Given the description of an element on the screen output the (x, y) to click on. 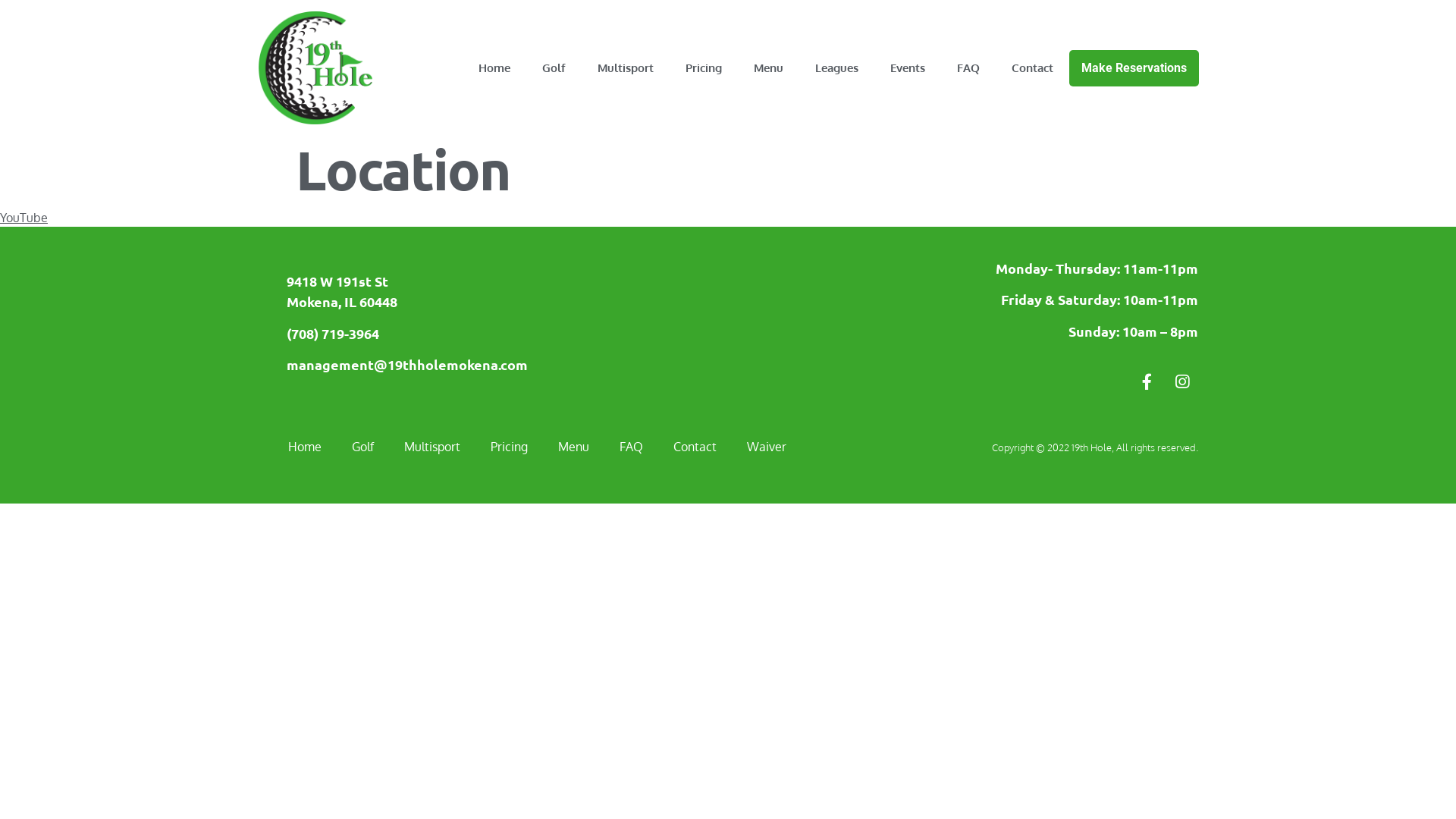
Contact Element type: text (694, 446)
Pricing Element type: text (508, 446)
Golf Element type: text (553, 67)
Menu Element type: text (768, 67)
Home Element type: text (304, 446)
Make Reservations Element type: text (1133, 68)
Multisport Element type: text (432, 446)
Contact Element type: text (1032, 67)
FAQ Element type: text (968, 67)
FAQ Element type: text (631, 446)
Menu Element type: text (573, 446)
YouTube Element type: text (23, 217)
Multisport Element type: text (625, 67)
Waiver Element type: text (766, 446)
Home Element type: text (494, 67)
Events Element type: text (907, 67)
Pricing Element type: text (703, 67)
Golf Element type: text (362, 446)
Leagues Element type: text (836, 67)
